Given the description of an element on the screen output the (x, y) to click on. 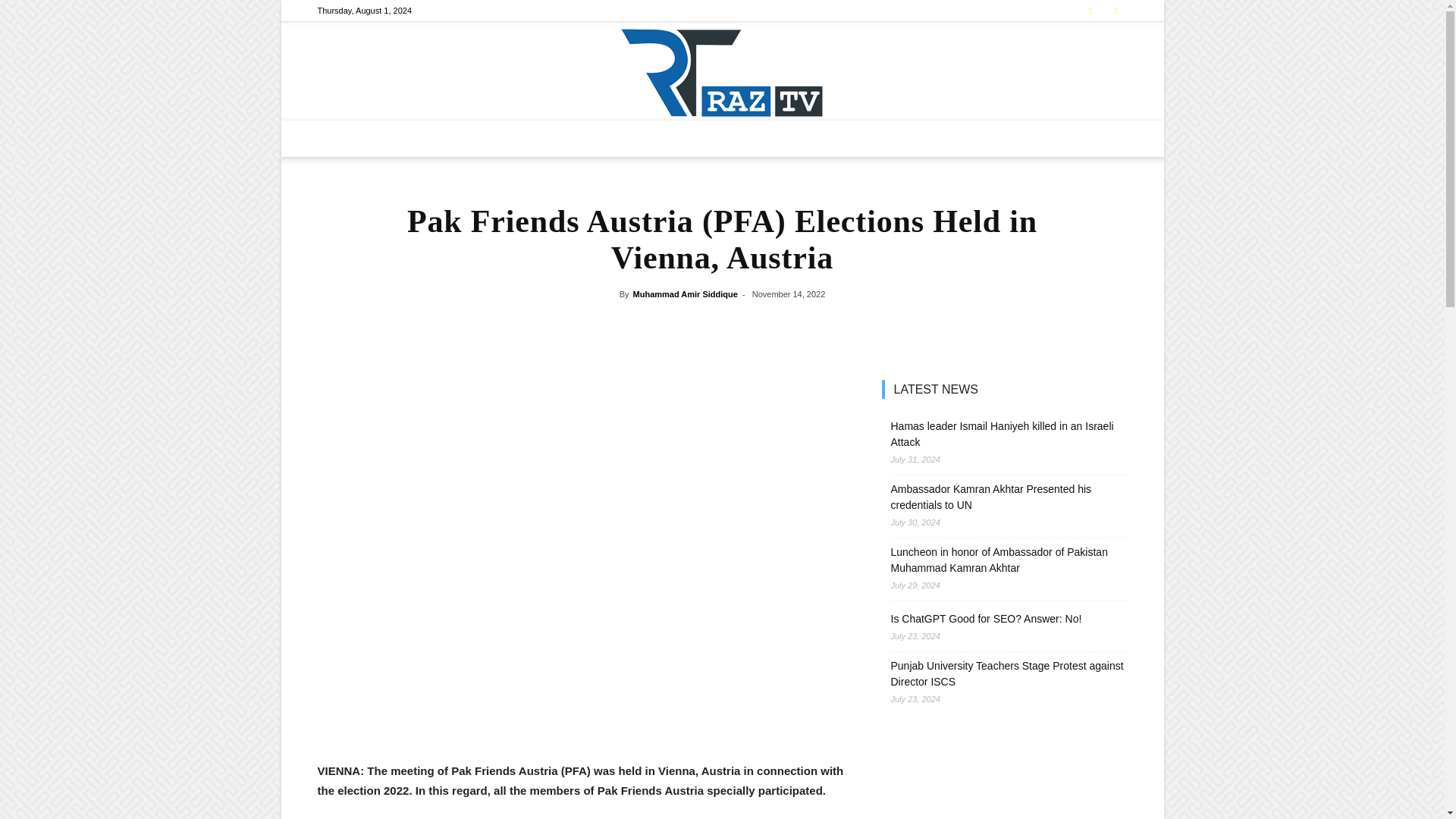
Latest (452, 138)
World (721, 138)
Advertisement (580, 722)
Poetry (874, 138)
Linkedin (1114, 10)
RAZ TV (722, 71)
Home (407, 138)
Facebook (1090, 10)
Bangladesh (563, 138)
Pakistan (503, 138)
